Given the description of an element on the screen output the (x, y) to click on. 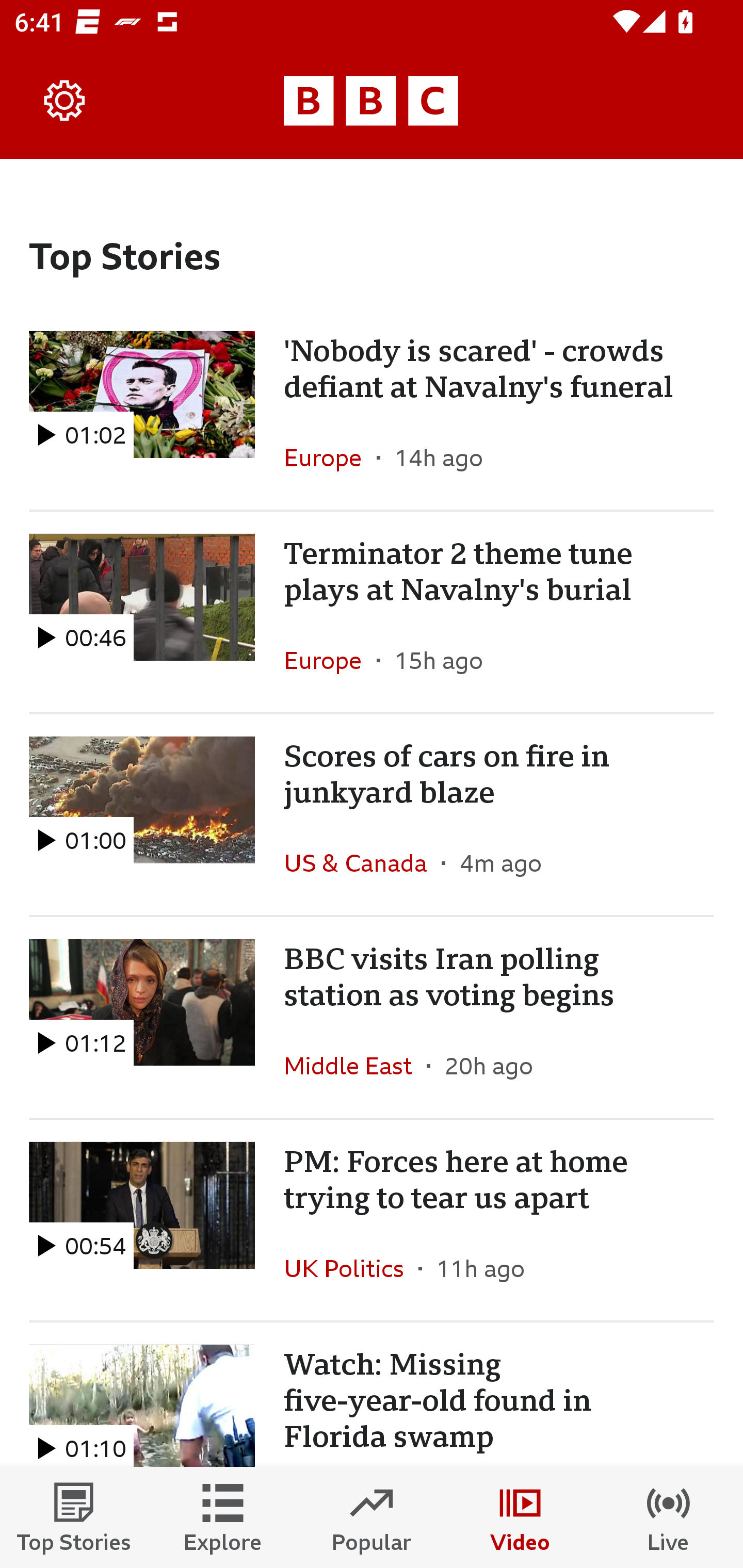
Settings (64, 100)
Europe In the section Europe (329, 457)
Europe In the section Europe (329, 659)
US & Canada In the section US & Canada (362, 862)
Middle East In the section Middle East (354, 1064)
UK Politics In the section UK Politics (350, 1268)
Top Stories (74, 1517)
Explore (222, 1517)
Popular (371, 1517)
Live (668, 1517)
